Given the description of an element on the screen output the (x, y) to click on. 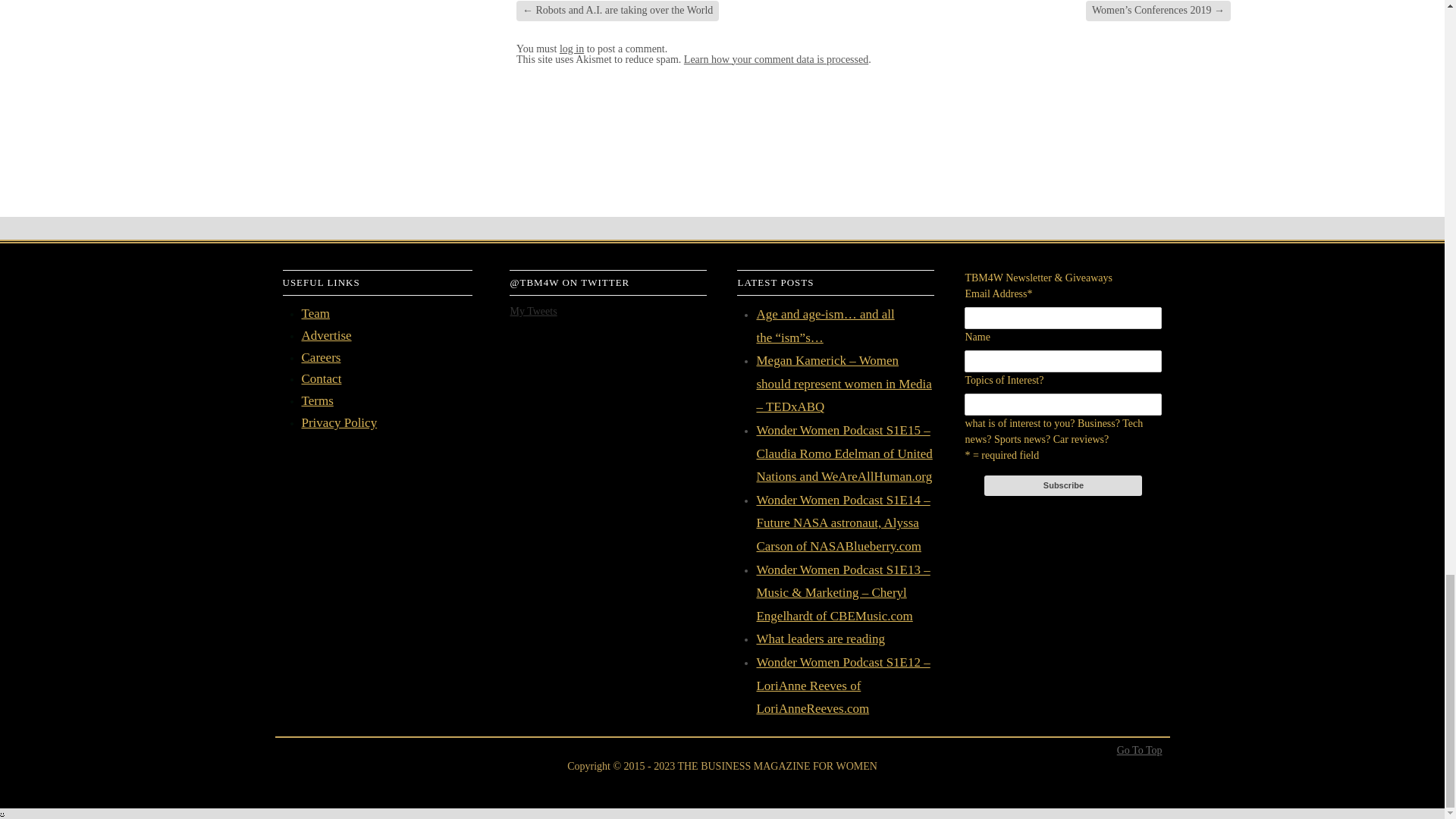
log in (571, 48)
Learn how your comment data is processed (775, 59)
Careers (320, 357)
Advertise (326, 335)
Terms (317, 400)
Contact (321, 378)
Subscribe (1062, 485)
Team (315, 313)
